Given the description of an element on the screen output the (x, y) to click on. 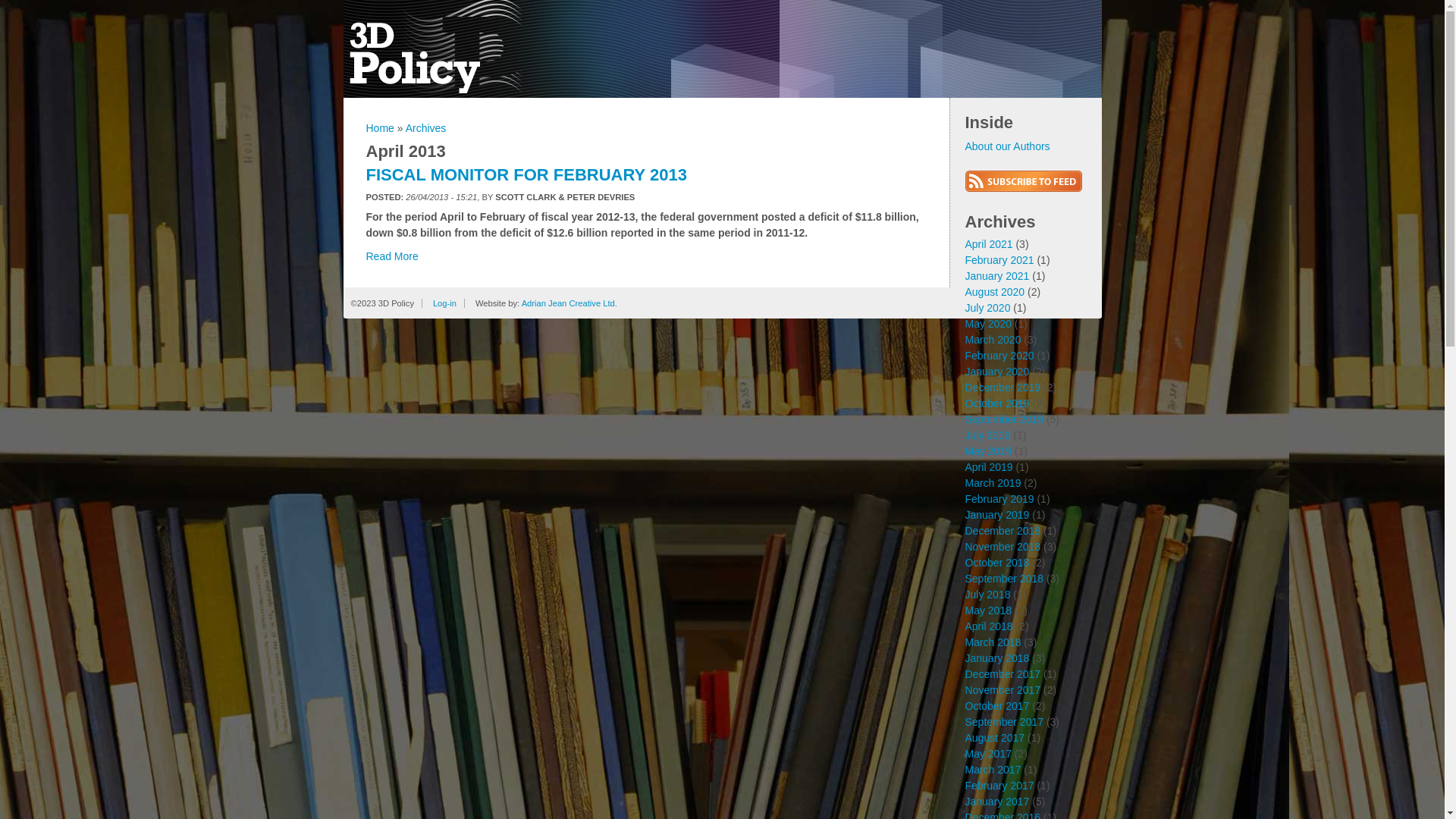
Archives Element type: text (425, 128)
FISCAL MONITOR FOR FEBRUARY 2013 Element type: text (525, 174)
Home Element type: text (379, 128)
May 2019 Element type: text (987, 451)
Log-in Element type: text (444, 302)
July 2019 Element type: text (987, 435)
November 2017 Element type: text (1002, 690)
March 2018 Element type: text (992, 642)
January 2018 Element type: text (996, 658)
December 2018 Element type: text (1002, 530)
December 2017 Element type: text (1002, 674)
October 2019 Element type: text (996, 403)
January 2017 Element type: text (996, 801)
October 2017 Element type: text (996, 705)
May 2020 Element type: text (987, 323)
February 2019 Element type: text (998, 498)
April 2018 Element type: text (988, 626)
Read More Element type: text (391, 256)
January 2021 Element type: text (996, 275)
February 2017 Element type: text (998, 785)
January 2019 Element type: text (996, 514)
July 2018 Element type: text (987, 594)
February 2020 Element type: text (998, 355)
May 2017 Element type: text (987, 753)
April 2019 Element type: text (988, 467)
August 2020 Element type: text (994, 291)
October 2018 Element type: text (996, 562)
March 2019 Element type: text (992, 482)
July 2020 Element type: text (987, 307)
September 2019 Element type: text (1003, 419)
March 2020 Element type: text (992, 339)
Skip to main content Element type: text (48, 0)
About our Authors Element type: text (1006, 146)
May 2018 Element type: text (987, 610)
September 2017 Element type: text (1003, 721)
September 2018 Element type: text (1003, 578)
January 2020 Element type: text (996, 371)
December 2019 Element type: text (1002, 387)
March 2017 Element type: text (992, 769)
August 2017 Element type: text (994, 737)
April 2021 Element type: text (988, 244)
February 2021 Element type: text (998, 260)
Adrian Jean Creative Ltd. Element type: text (569, 302)
November 2018 Element type: text (1002, 546)
